Given the description of an element on the screen output the (x, y) to click on. 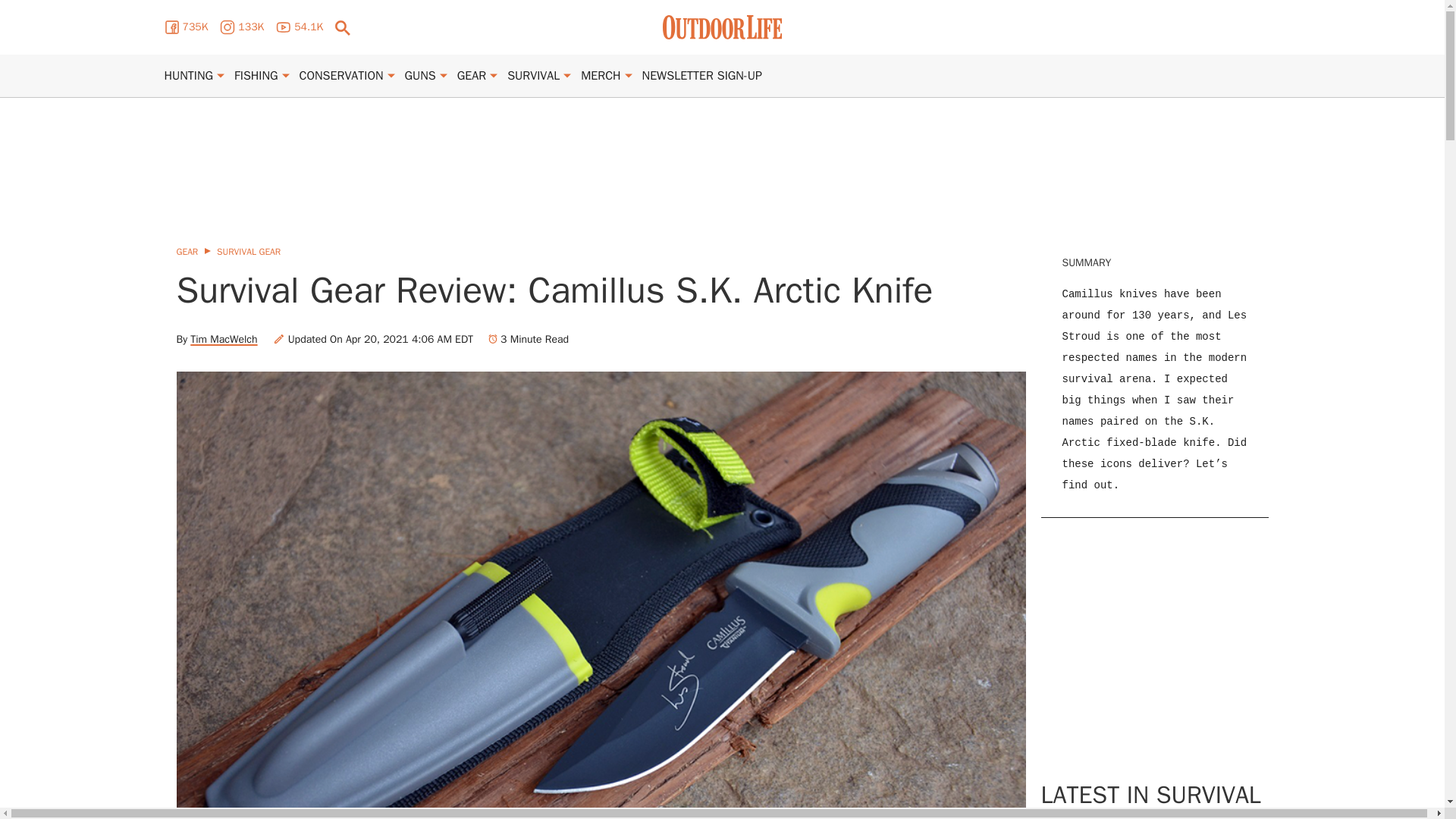
Newsletter Sign-up (701, 75)
Conservation (341, 75)
Fishing (256, 75)
Merch (600, 75)
Guns (419, 75)
Survival (532, 75)
Hunting (187, 75)
Gear (471, 75)
